Given the description of an element on the screen output the (x, y) to click on. 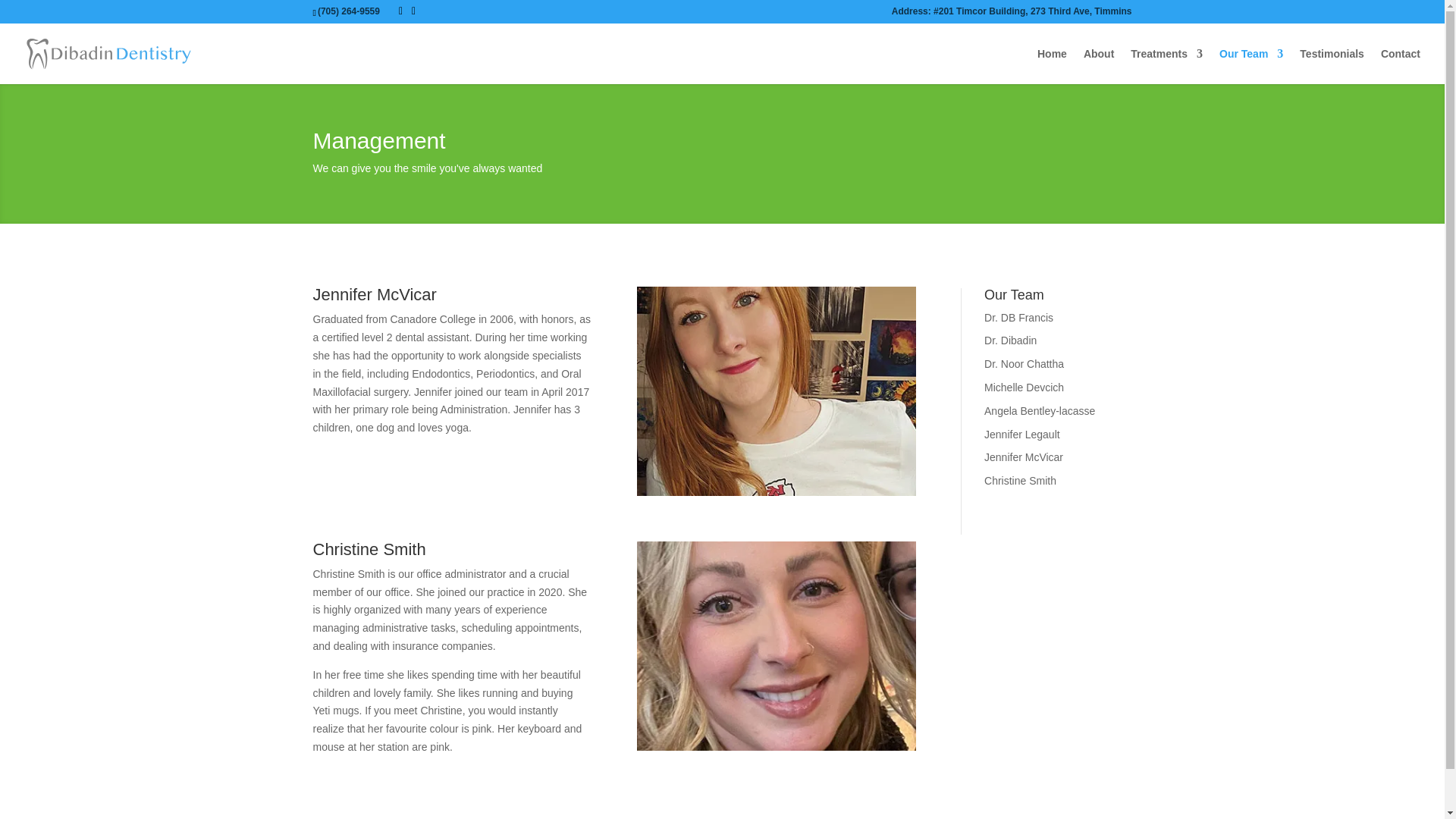
Christine-Smith (776, 646)
Testimonials (1332, 66)
Contact (1400, 66)
About (1098, 66)
Our Team (1251, 66)
Home (1051, 66)
Treatments (1166, 66)
Jennifer-Mcvicar (776, 391)
